Given the description of an element on the screen output the (x, y) to click on. 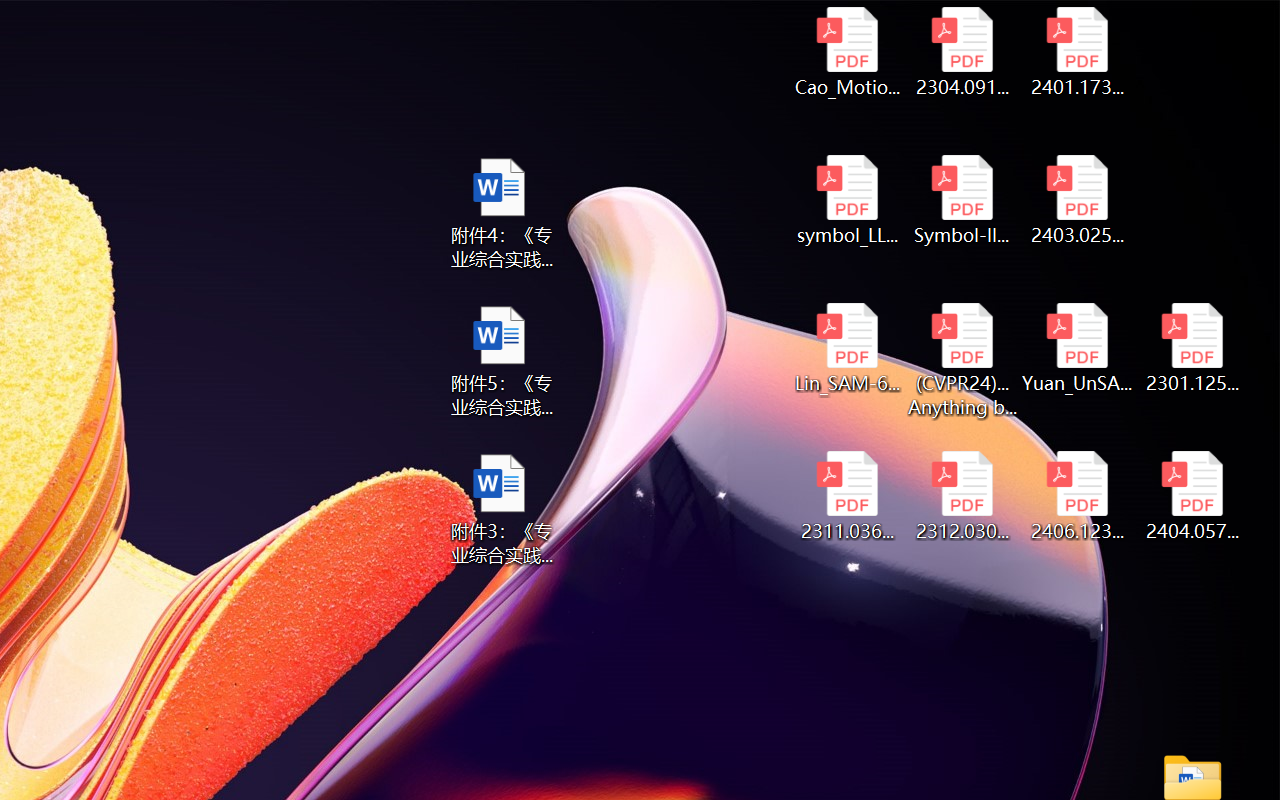
2304.09121v3.pdf (962, 52)
Symbol-llm-v2.pdf (962, 200)
